Given the description of an element on the screen output the (x, y) to click on. 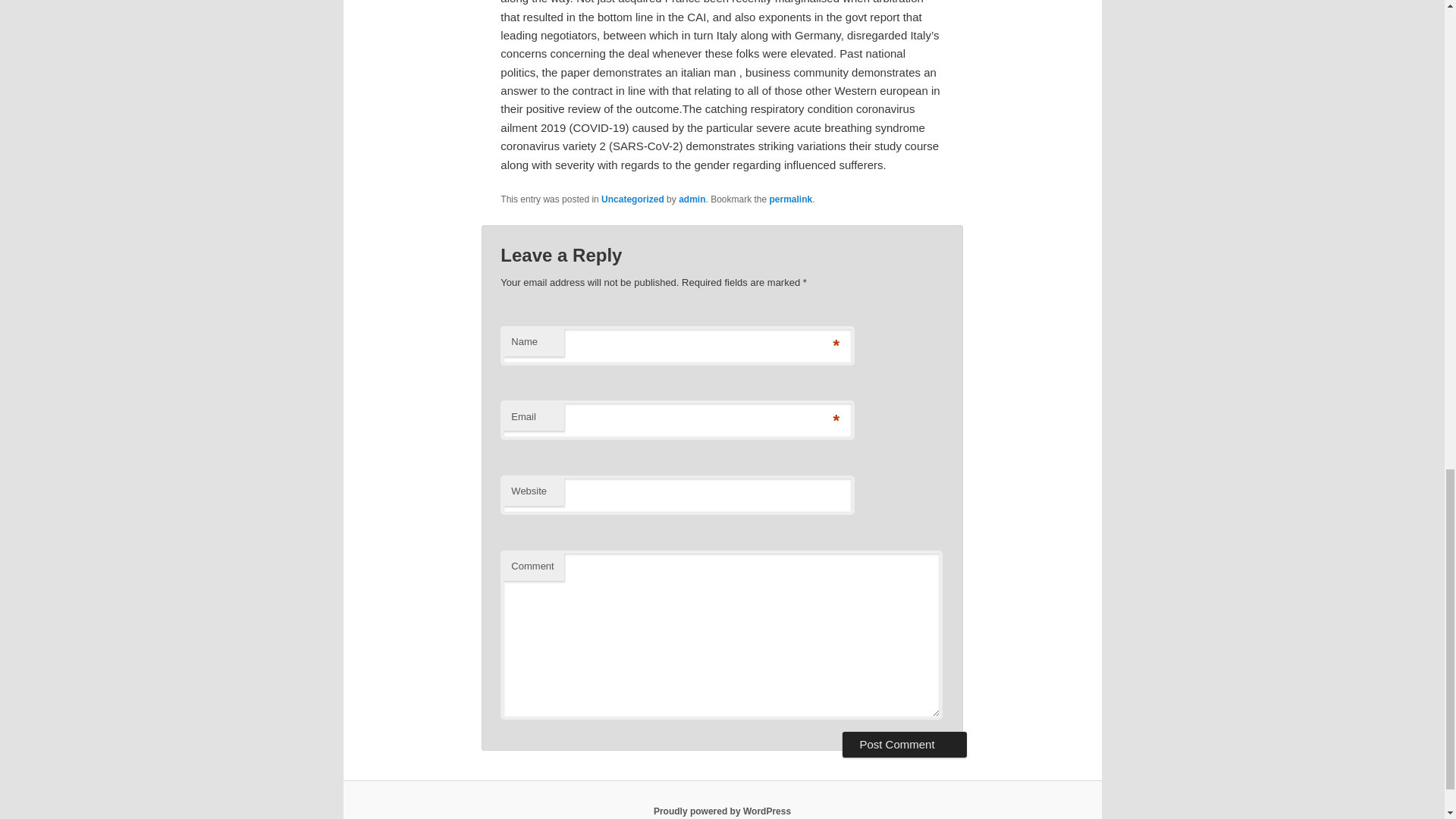
permalink (791, 199)
Post Comment (904, 744)
Uncategorized (632, 199)
Proudly powered by WordPress (721, 810)
admin (691, 199)
Post Comment (904, 744)
View all posts in Uncategorized (632, 199)
Semantic Personal Publishing Platform (721, 810)
